Given the description of an element on the screen output the (x, y) to click on. 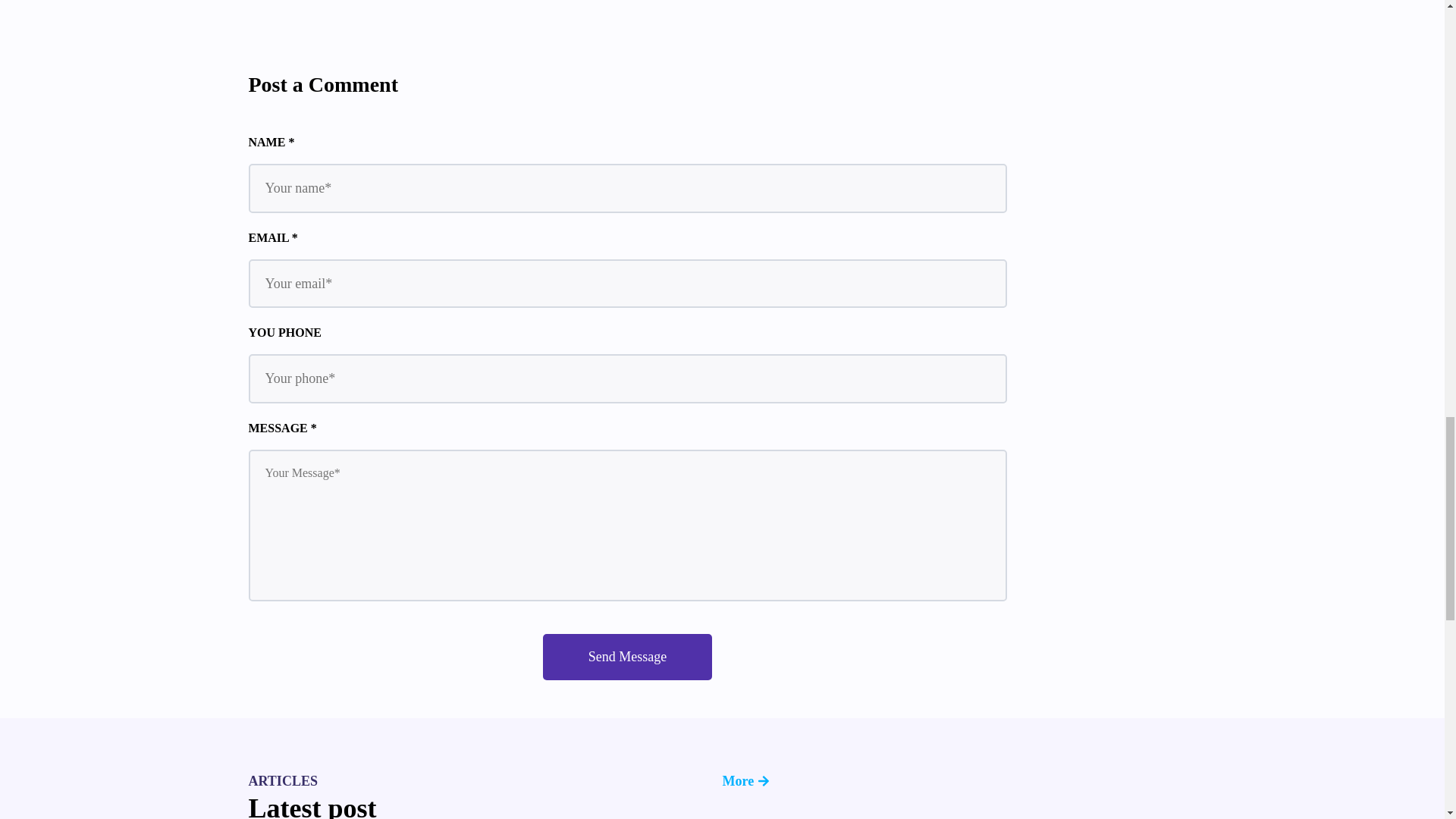
Send Message (627, 656)
Only numbers from 0 to 9 are allowed (627, 378)
More (958, 781)
